Given the description of an element on the screen output the (x, y) to click on. 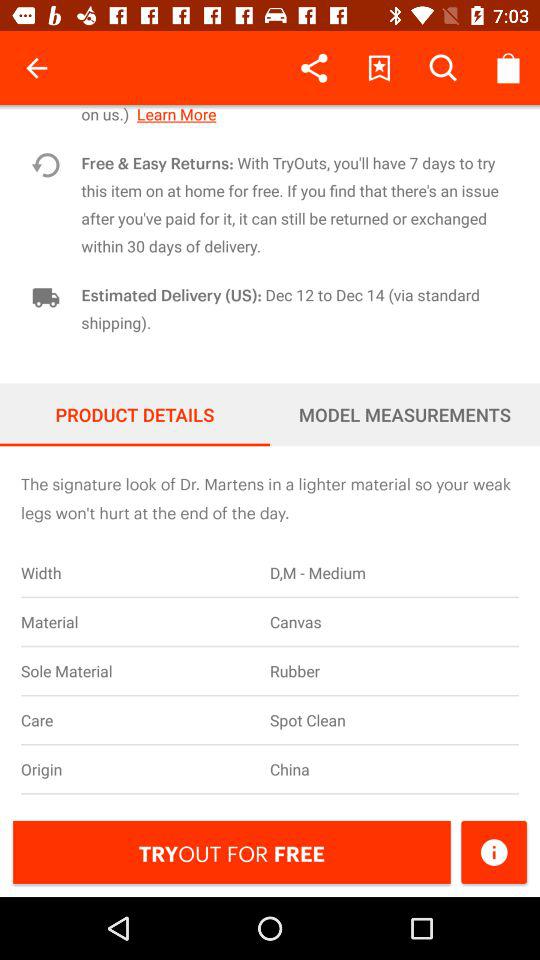
turn on icon to the right of tryout for free icon (493, 851)
